Given the description of an element on the screen output the (x, y) to click on. 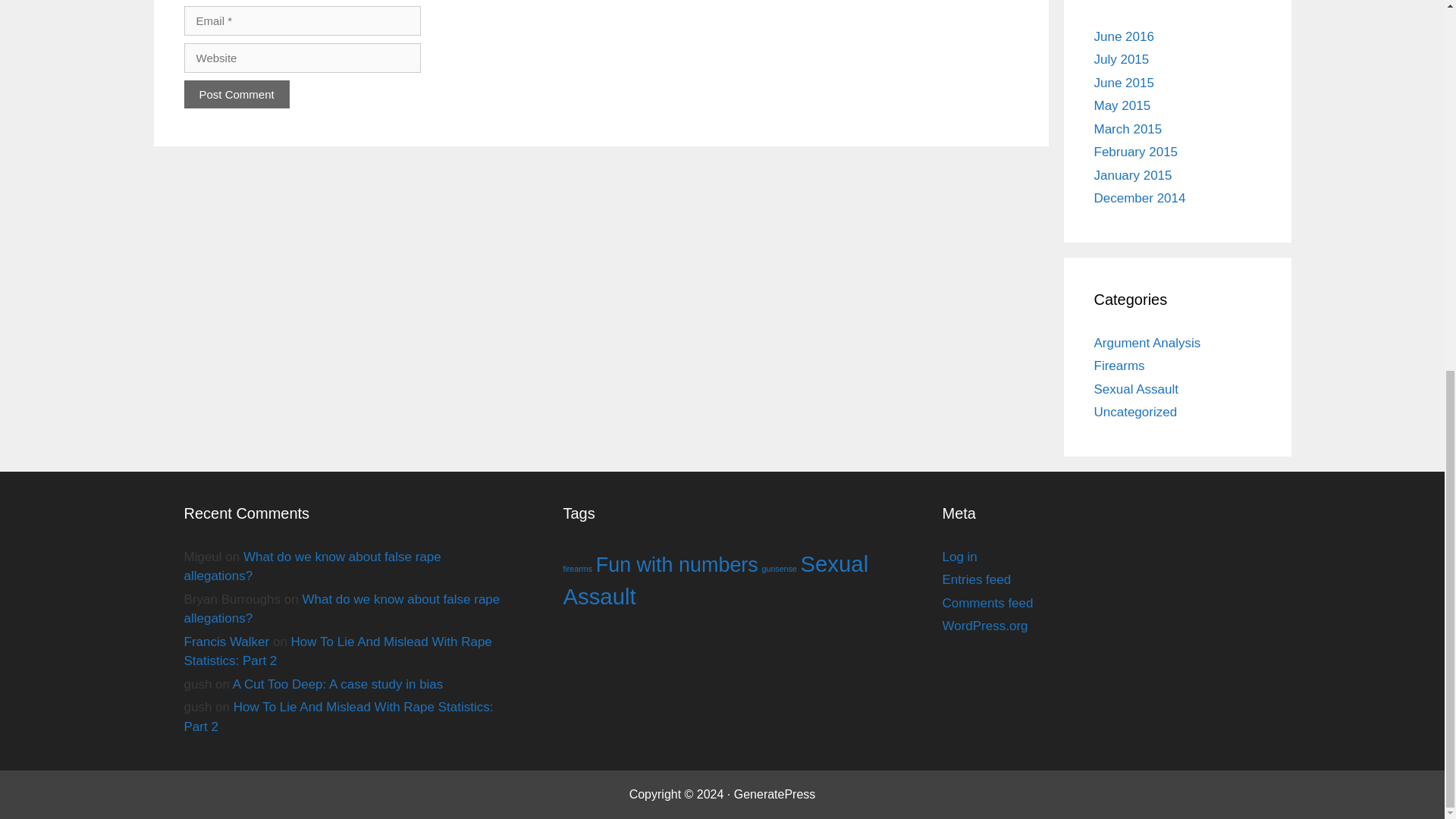
Post Comment (235, 93)
How To Lie And Mislead With Rape Statistics: Part 2 (337, 651)
June 2015 (1123, 82)
January 2015 (1132, 174)
A Cut Too Deep: A case study in bias (338, 684)
Uncategorized (1134, 411)
Firearms (1118, 365)
What do we know about false rape allegations? (341, 609)
December 2014 (1139, 197)
Log in (959, 556)
Fun with numbers (676, 563)
March 2015 (1127, 129)
Entries feed (976, 579)
Sexual Assault (714, 580)
Francis Walker (226, 641)
